Given the description of an element on the screen output the (x, y) to click on. 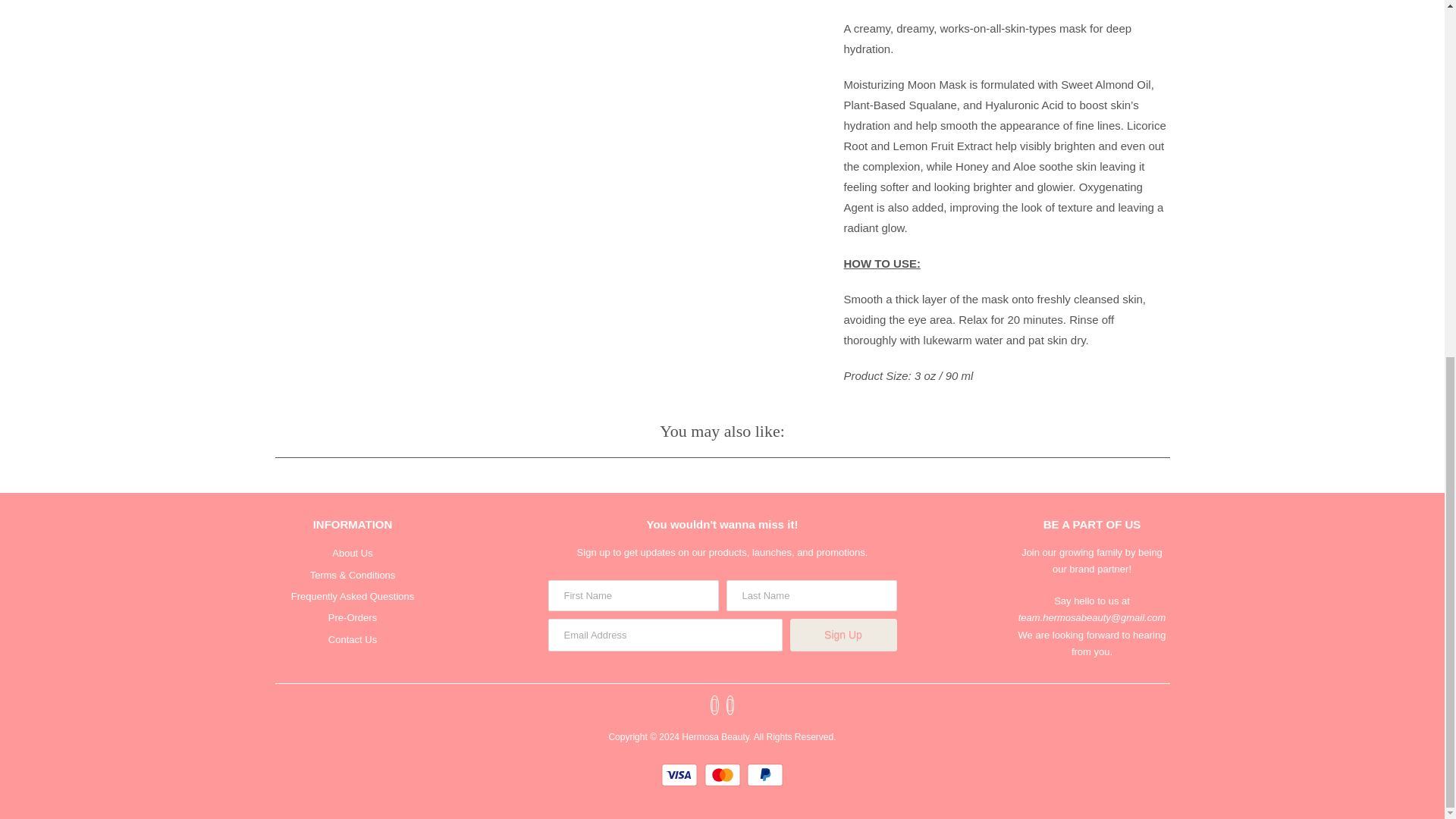
Mastercard (723, 774)
PayPal (764, 774)
Sign Up (843, 635)
Visa (681, 774)
